Given the description of an element on the screen output the (x, y) to click on. 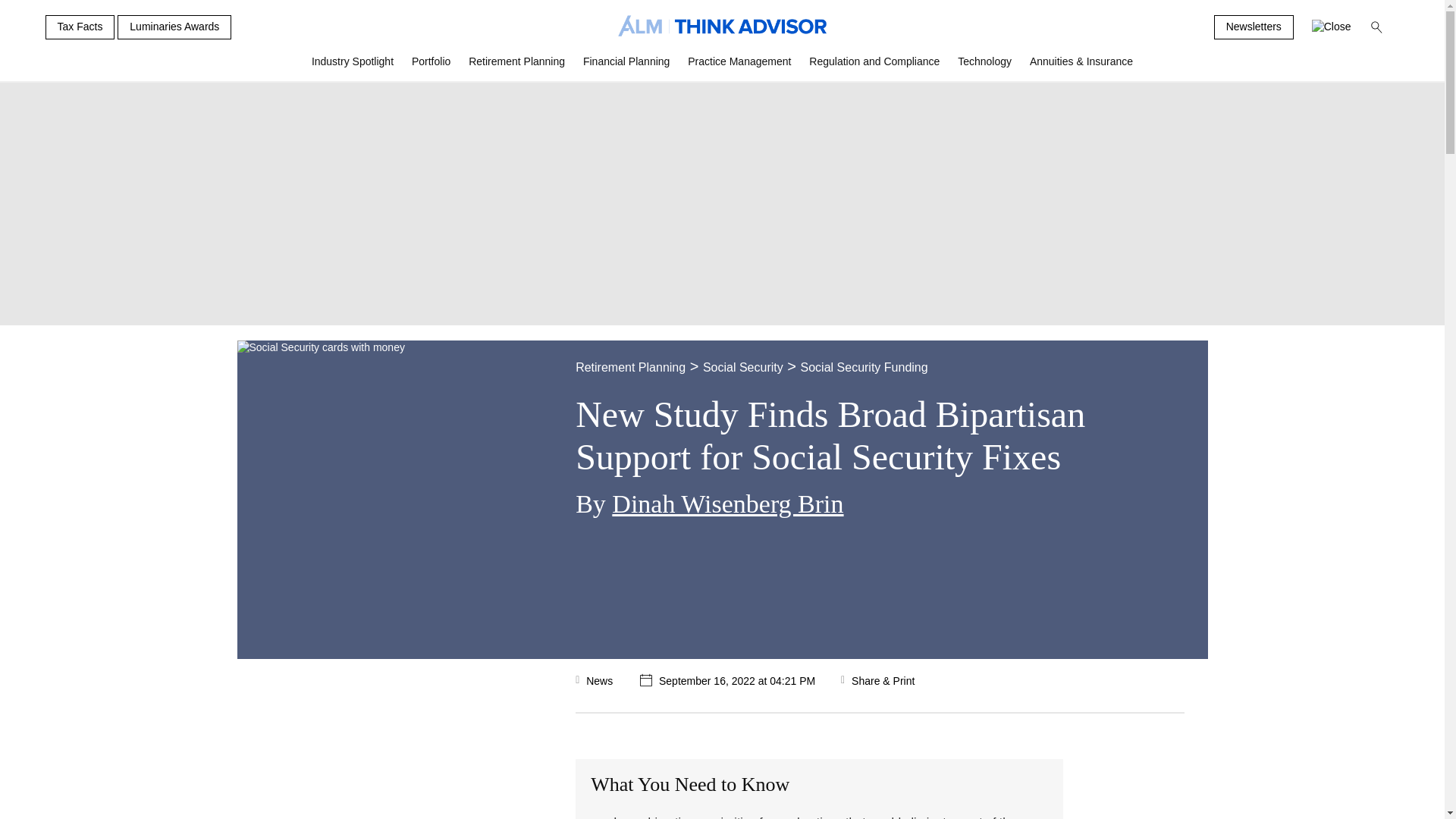
Tax Facts (80, 27)
Newsletters (1254, 27)
Luminaries Awards (174, 27)
Industry Spotlight (352, 67)
